Given the description of an element on the screen output the (x, y) to click on. 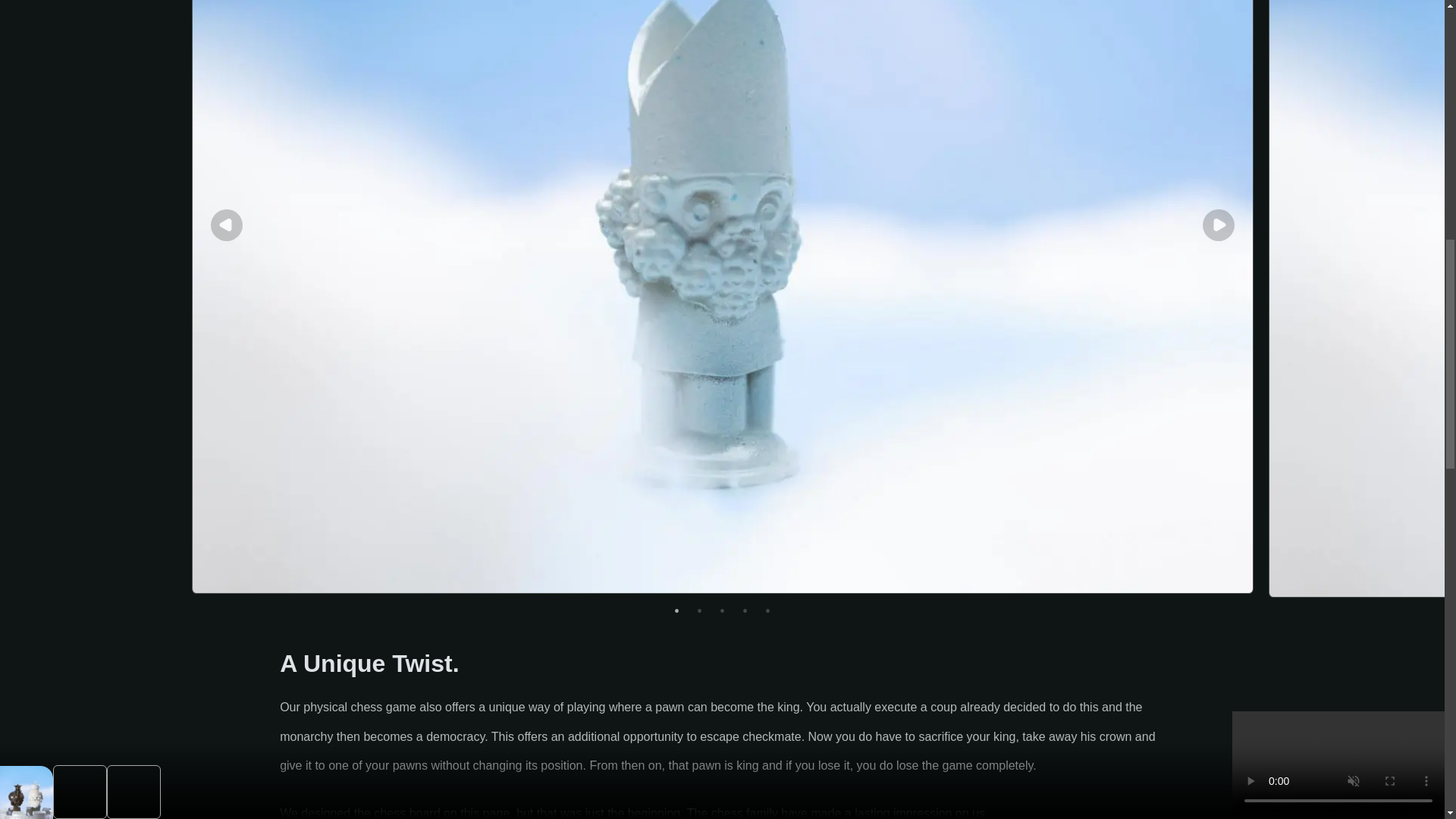
3 (721, 618)
Next (1218, 224)
1 (676, 618)
5 (767, 618)
Previous (227, 224)
4 (744, 618)
2 (698, 618)
